Given the description of an element on the screen output the (x, y) to click on. 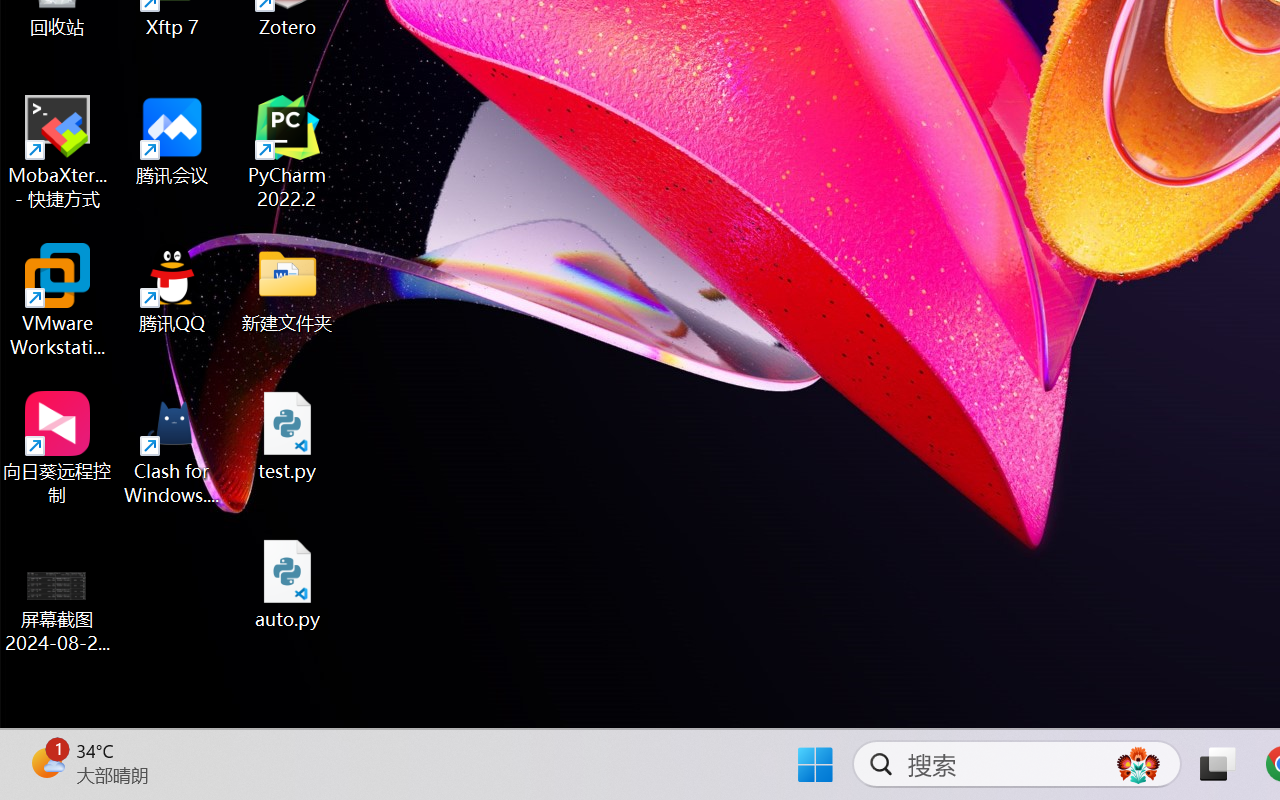
PyCharm 2022.2 (287, 152)
test.py (287, 436)
auto.py (287, 584)
